Given the description of an element on the screen output the (x, y) to click on. 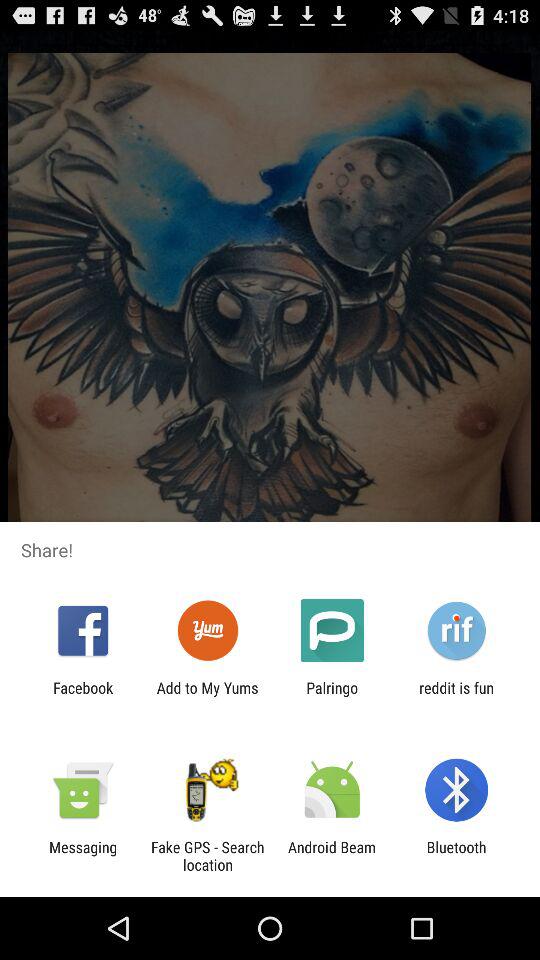
jump until android beam item (332, 856)
